Given the description of an element on the screen output the (x, y) to click on. 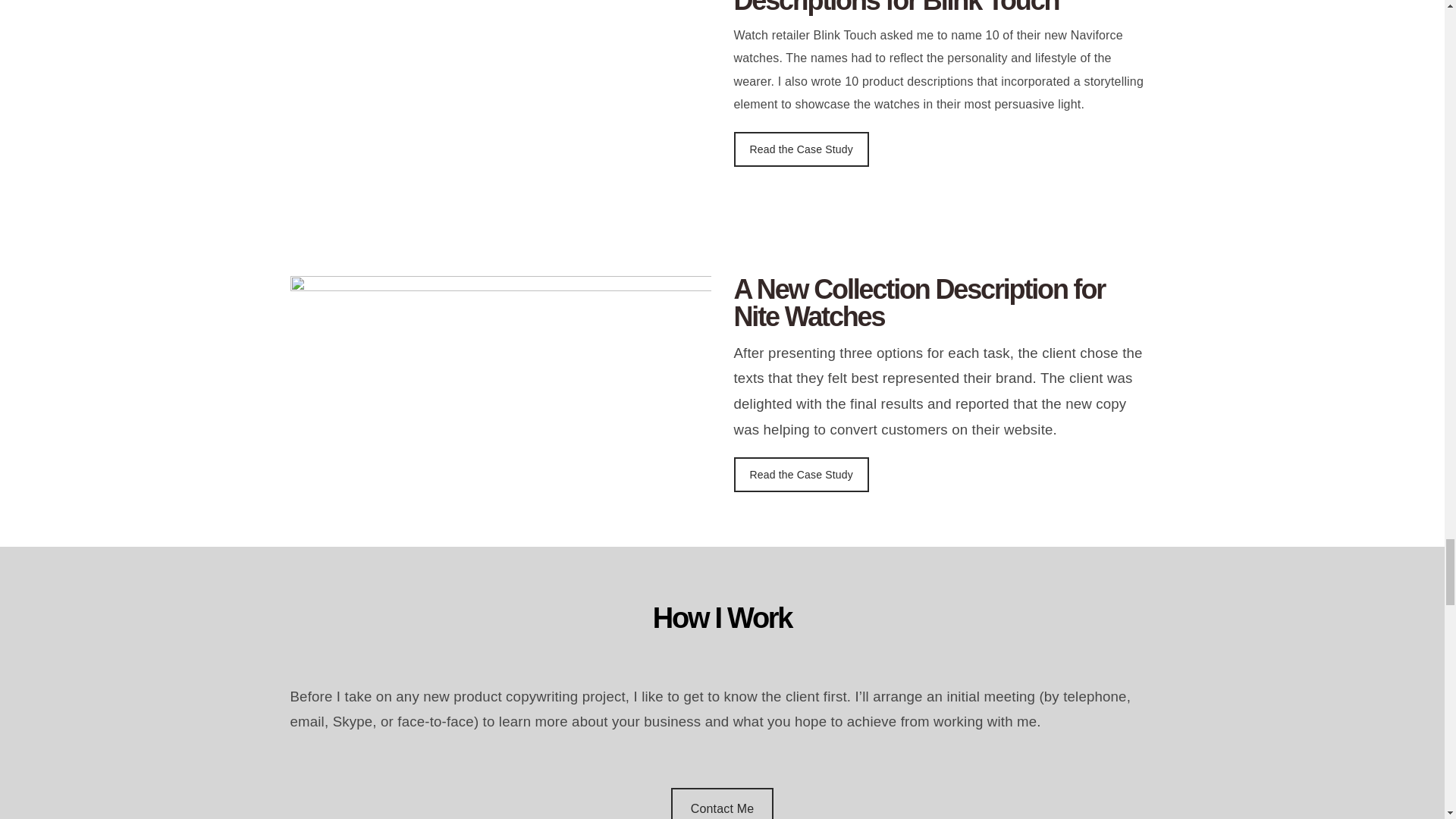
Brand Naming and 10 Product Descriptions for Blink Touch (943, 7)
How I Work (721, 637)
A New Collection Description for Nite Watches (943, 303)
